Given the description of an element on the screen output the (x, y) to click on. 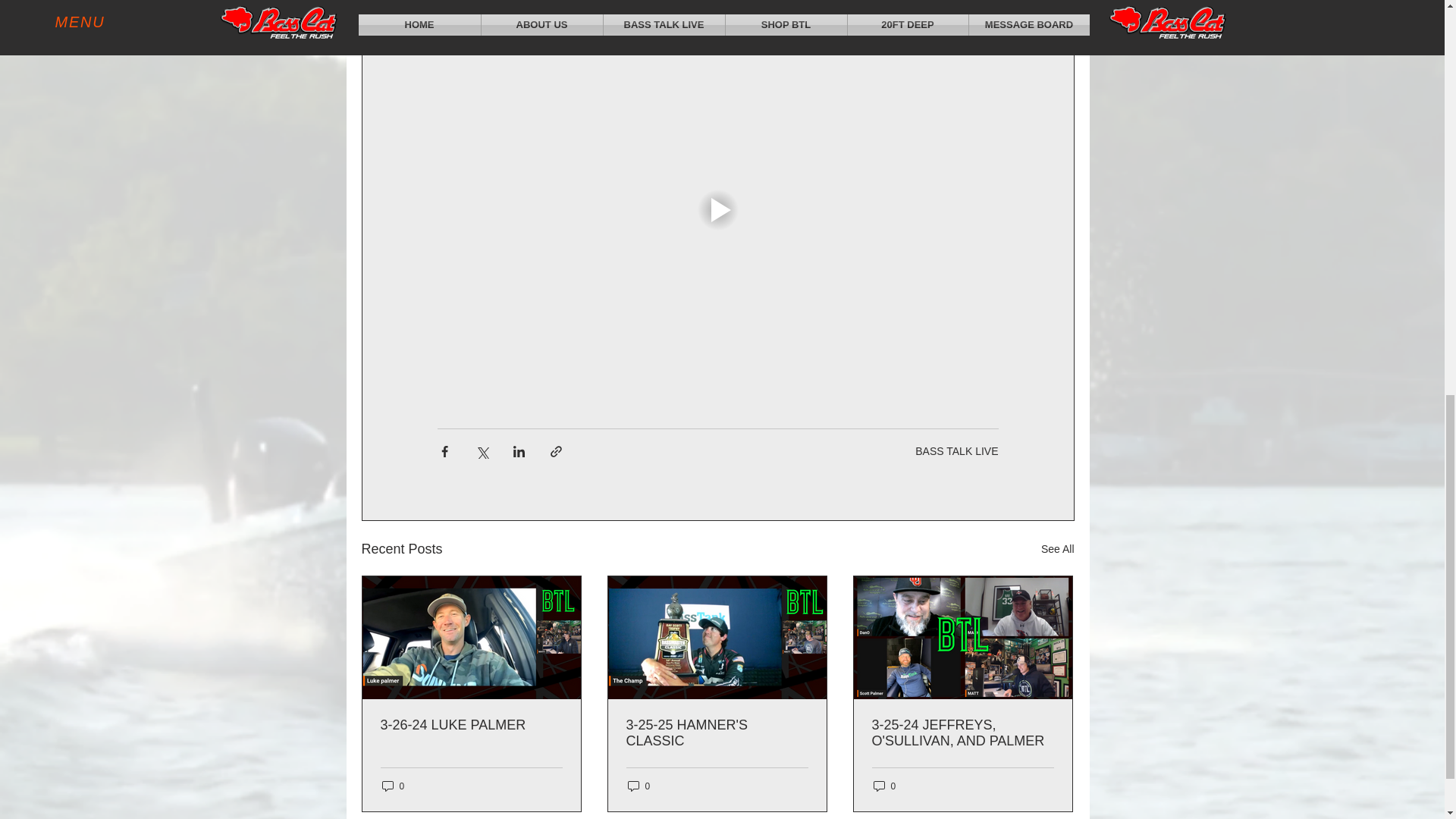
See All (1057, 549)
0 (885, 785)
BASS TALK LIVE (956, 451)
3-25-25 HAMNER'S CLASSIC (717, 733)
0 (639, 785)
3-26-24 LUKE PALMER (471, 725)
3-25-24 JEFFREYS, O'SULLIVAN, AND PALMER (963, 733)
0 (393, 785)
